Given the description of an element on the screen output the (x, y) to click on. 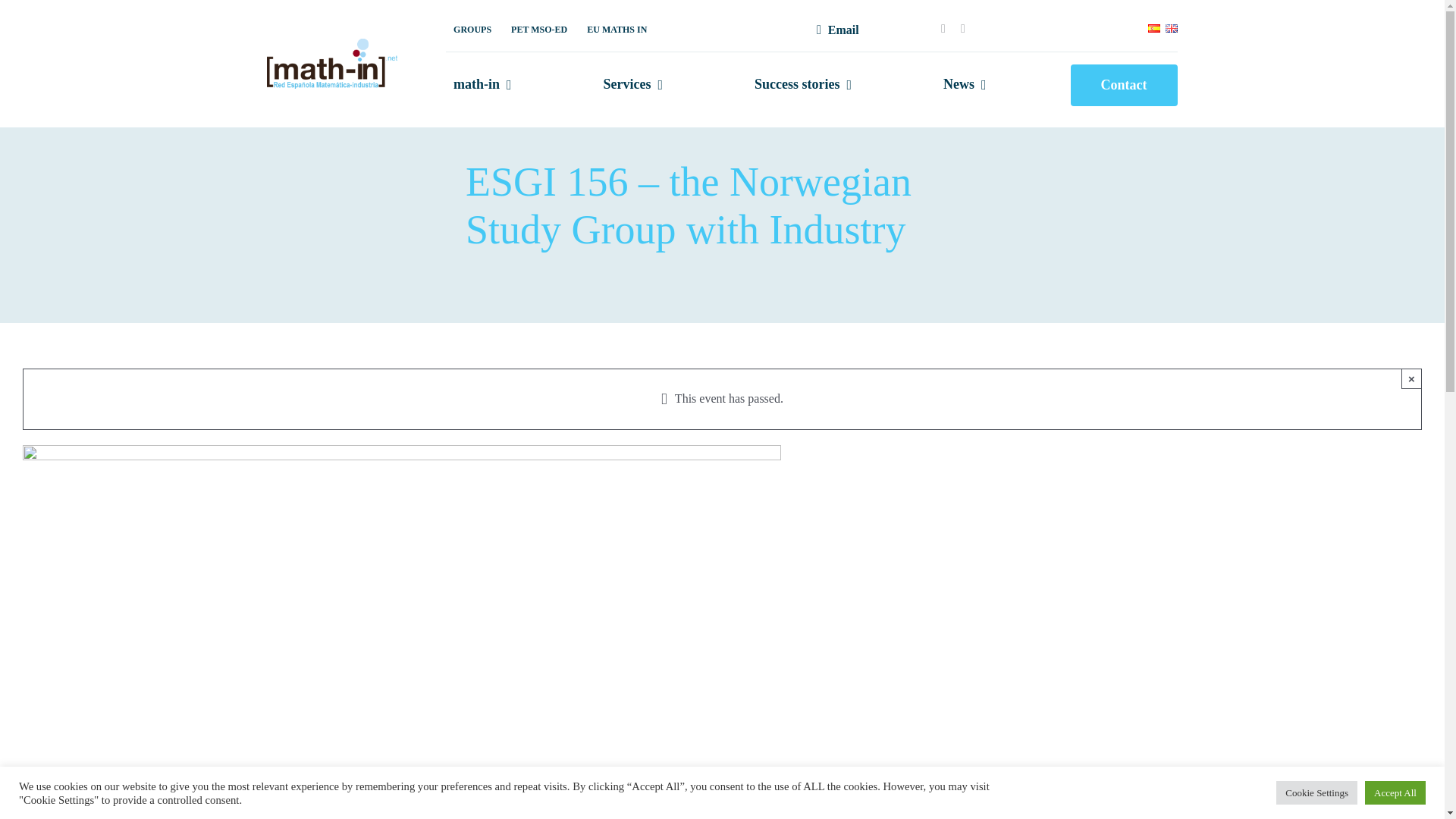
GROUPS (472, 30)
Success stories (802, 85)
Services (633, 85)
PET MSO-ED (539, 30)
News (965, 85)
Contact (1123, 85)
EU MATHS IN (616, 30)
Email (834, 30)
math-in (482, 85)
